Given the description of an element on the screen output the (x, y) to click on. 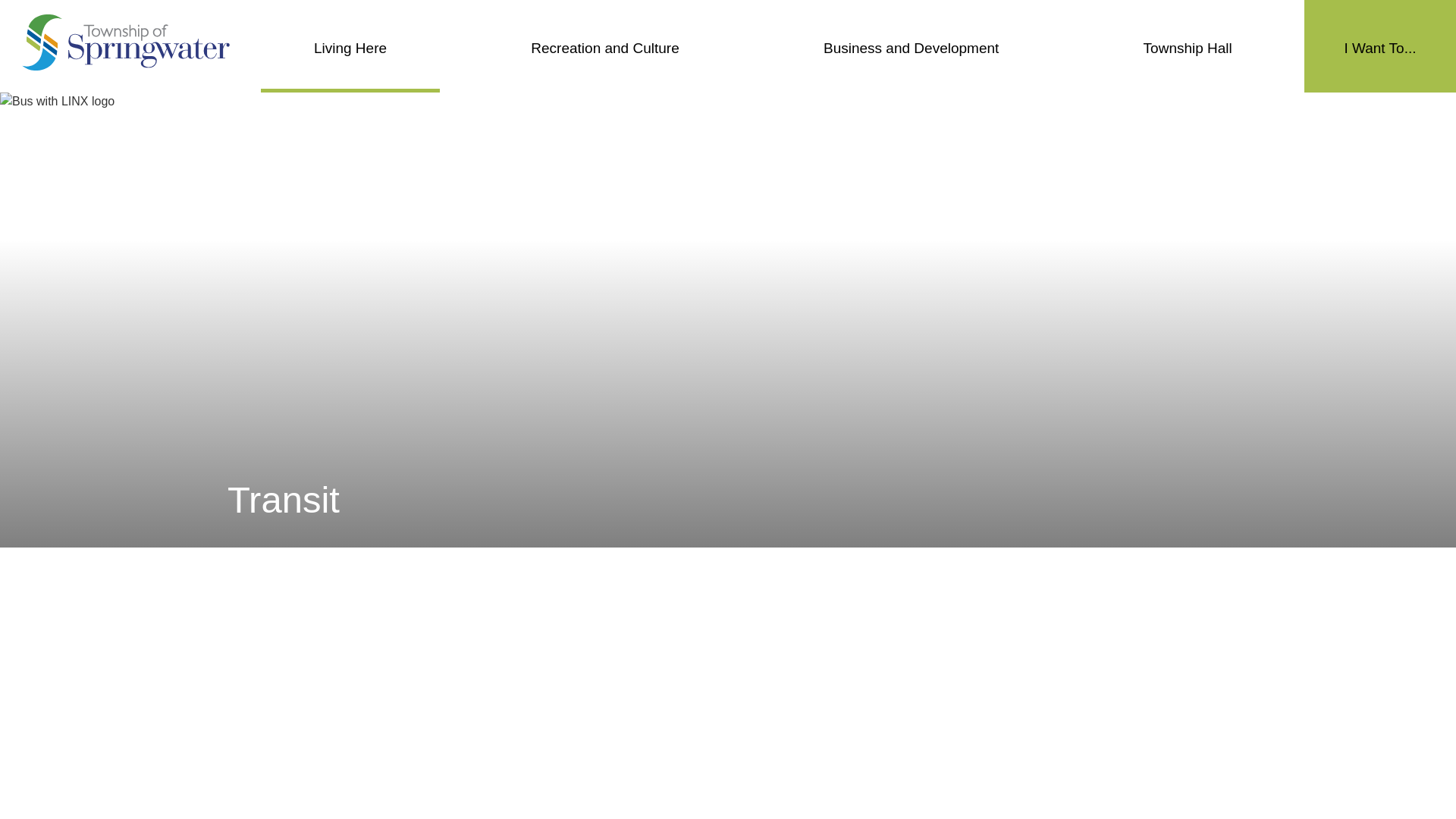
Recreation and Culture (604, 46)
Living Here (349, 46)
Click to go back Home (125, 42)
View our Living Here page (349, 46)
